Given the description of an element on the screen output the (x, y) to click on. 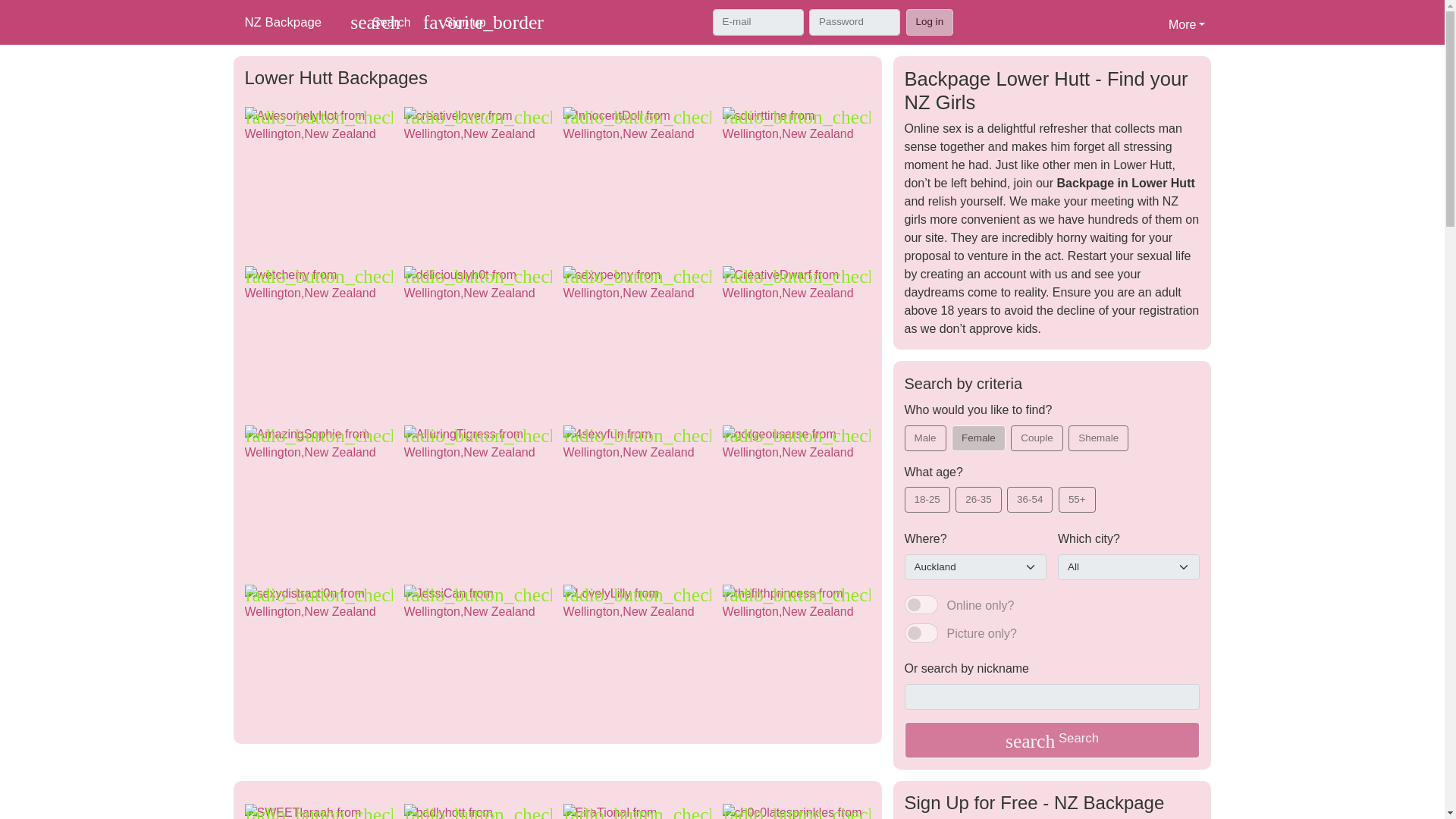
36-54 (1011, 491)
shemale (1073, 429)
NZ Backpage (288, 21)
male (909, 429)
26-35 (960, 491)
couple (379, 22)
1 (1015, 429)
More (920, 605)
18-25 (1186, 22)
1 (909, 491)
search Search (920, 632)
female (1051, 739)
Log in (956, 429)
